Given the description of an element on the screen output the (x, y) to click on. 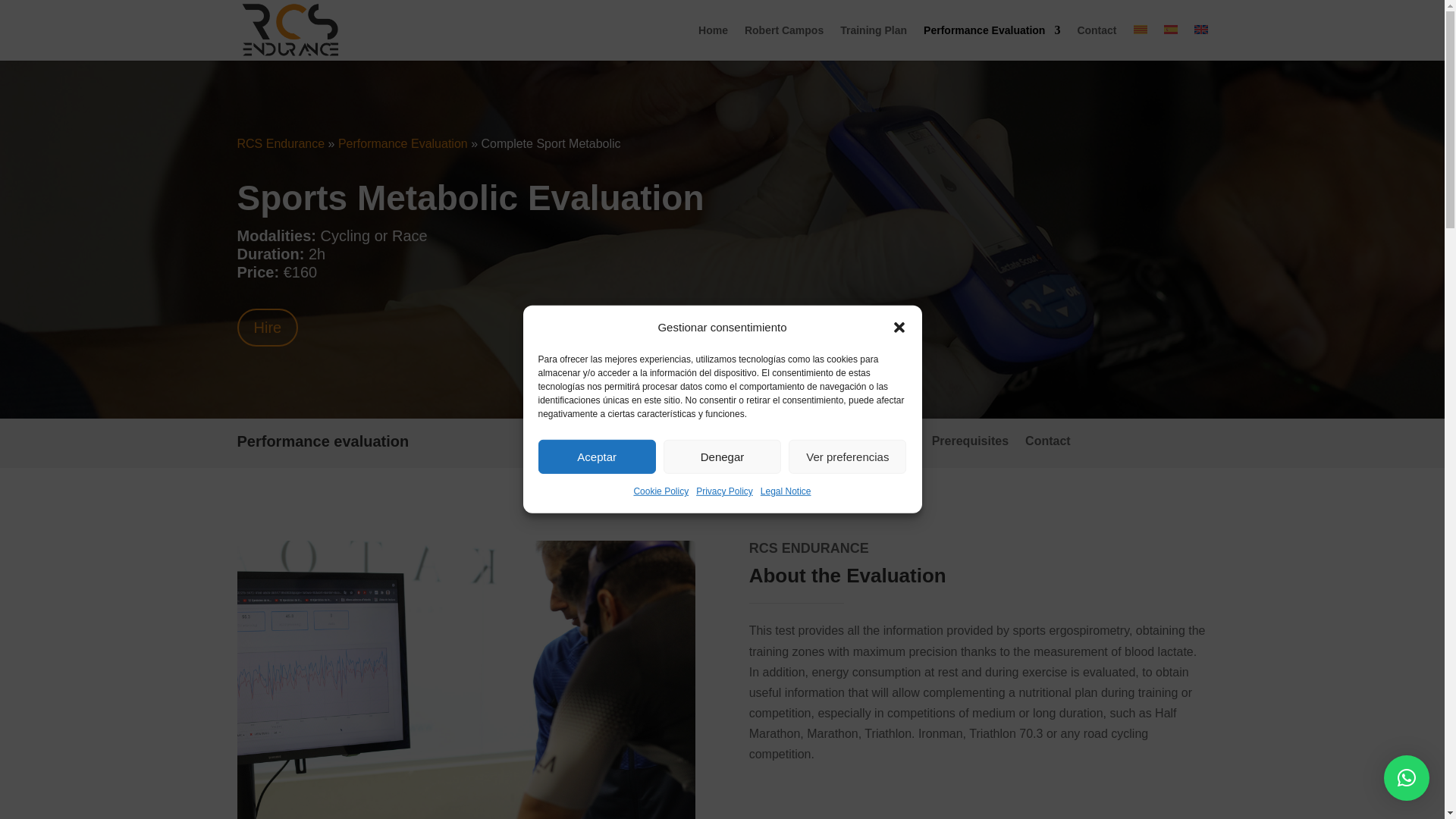
Robert Campos (784, 42)
Performance Evaluation (402, 143)
evaluacion-rendimiento-deportivo-006 (465, 679)
Aceptar (597, 456)
Denegar (721, 456)
Legal Notice (785, 491)
Hire (266, 327)
Privacy Policy (723, 491)
Training Plan (873, 42)
Cookie Policy (660, 491)
